Given the description of an element on the screen output the (x, y) to click on. 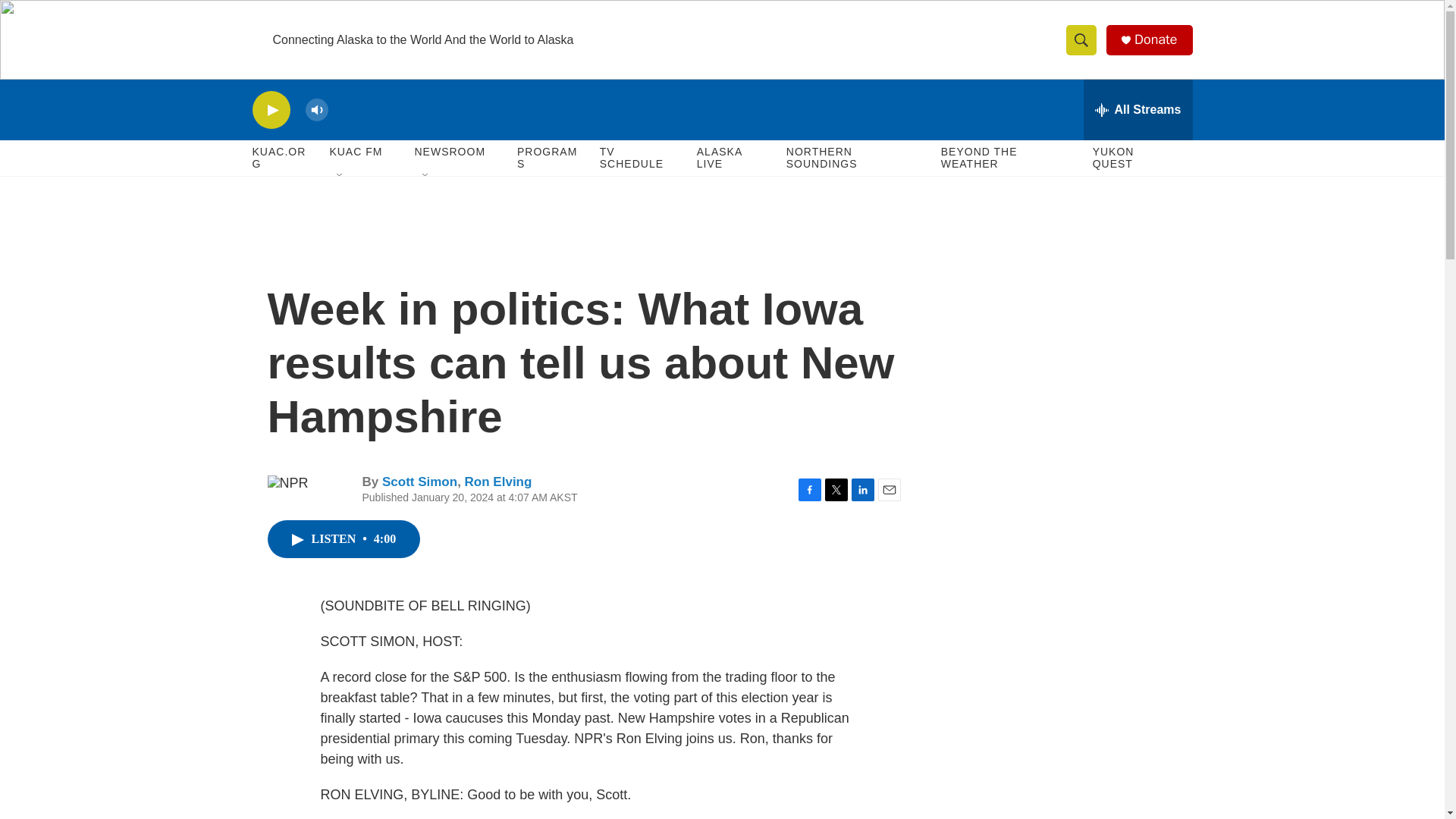
All Streams (1137, 109)
KUAC.ORG (282, 157)
Donate (1155, 39)
Show Search (1080, 39)
